Given the description of an element on the screen output the (x, y) to click on. 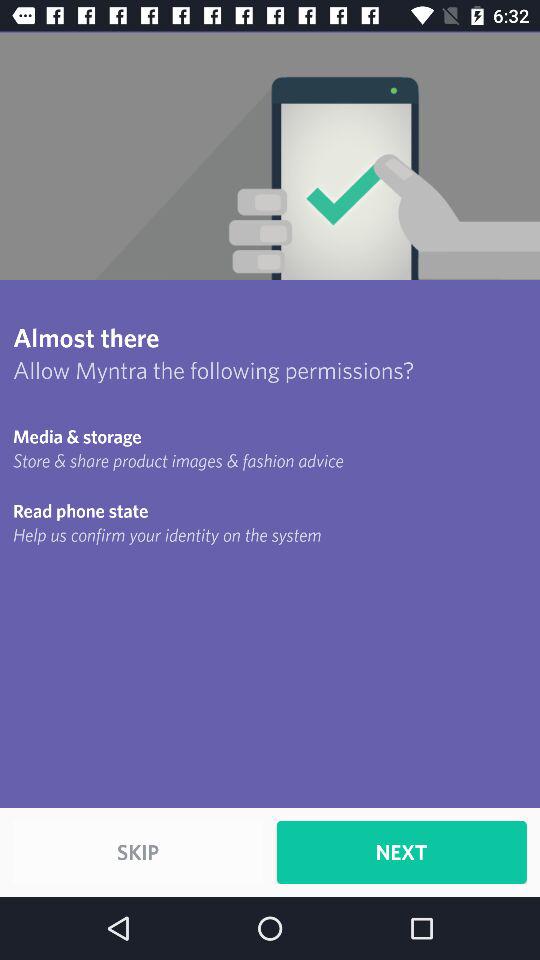
press the next icon (401, 851)
